Given the description of an element on the screen output the (x, y) to click on. 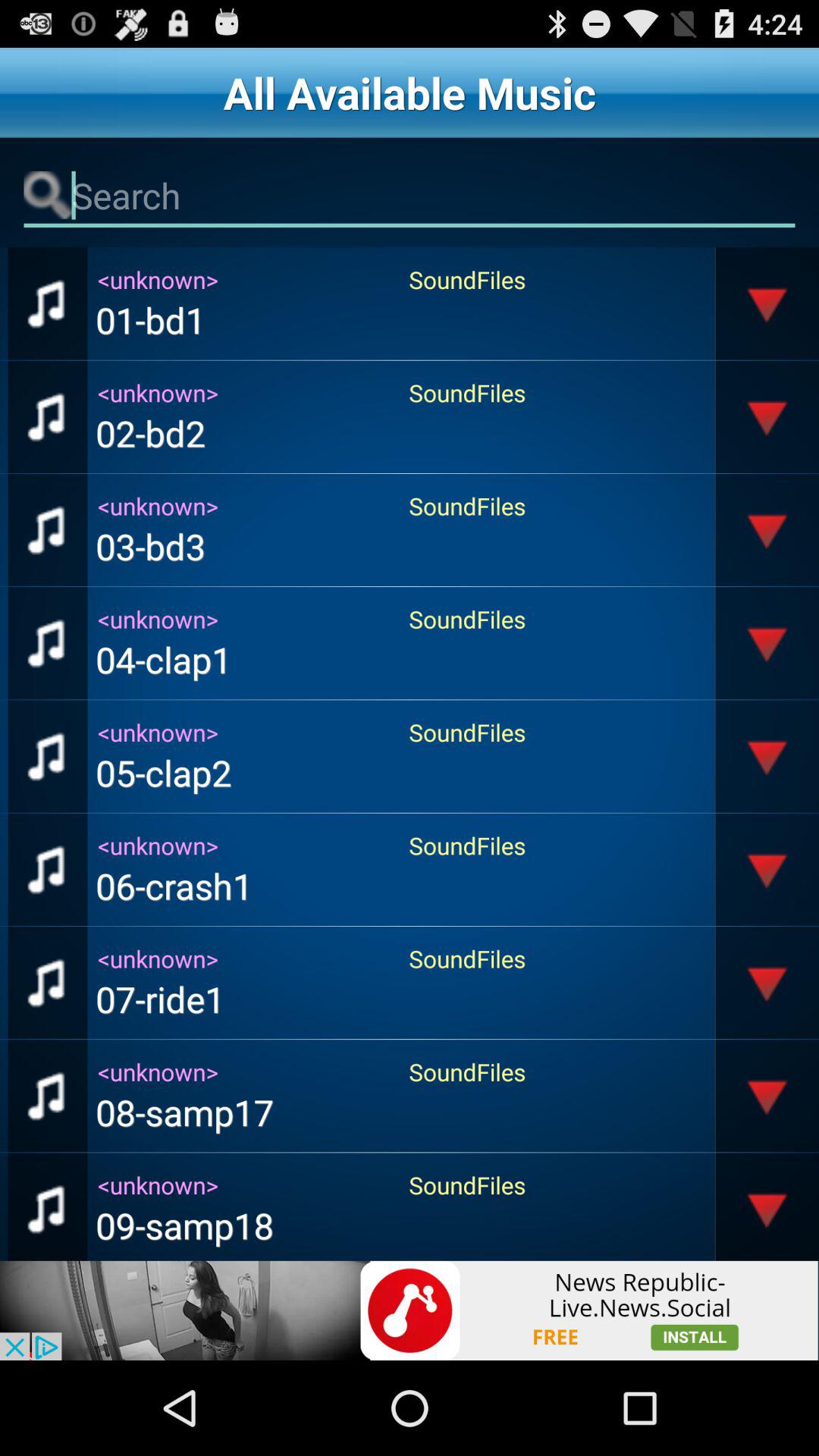
advertisement link (409, 1310)
